Given the description of an element on the screen output the (x, y) to click on. 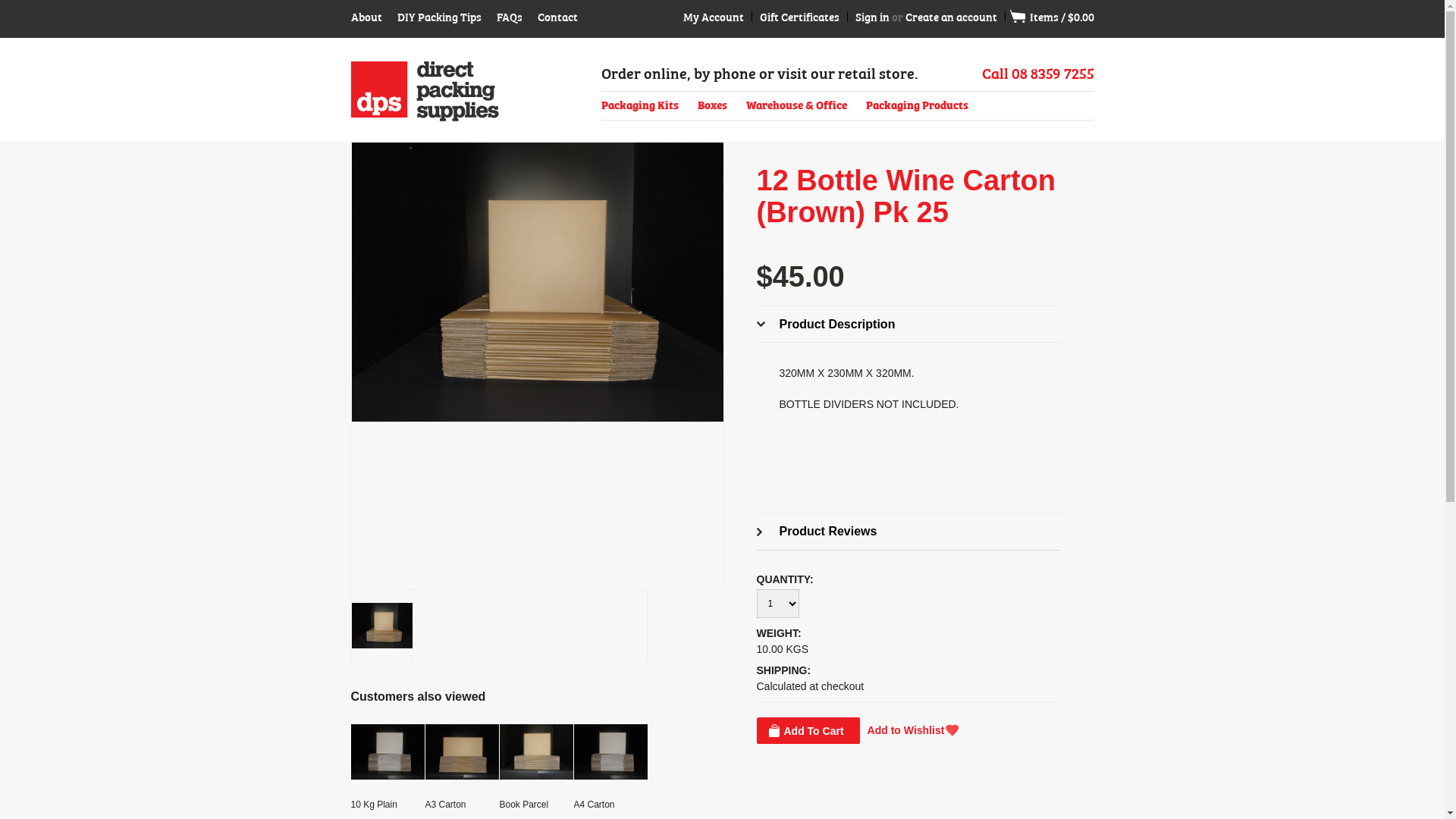
Sign in Element type: text (872, 16)
Packaging Kits Element type: text (638, 103)
 Items / $0.00 Element type: text (1053, 16)
Warehouse & Office Element type: text (796, 103)
320MM X 230MM X 320MM
Bottle Dividers Not Included.  Element type: hover (381, 618)
My Account Element type: text (712, 16)
About Element type: text (365, 16)
Packaging Products Element type: text (917, 103)
FAQs Element type: text (508, 16)
Add To Cart Element type: text (807, 730)
Add to Wishlist Element type: hover (913, 730)
Create an account Element type: text (951, 16)
Contact Element type: text (556, 16)
View Cart Element type: hover (1022, 16)
Boxes Element type: text (712, 103)
DIY Packing Tips Element type: text (439, 16)
Gift Certificates Element type: text (799, 16)
320MM X 230MM X 320MM
Bottle Dividers Not Included.  Element type: hover (537, 281)
0 Element type: text (381, 625)
